Given the description of an element on the screen output the (x, y) to click on. 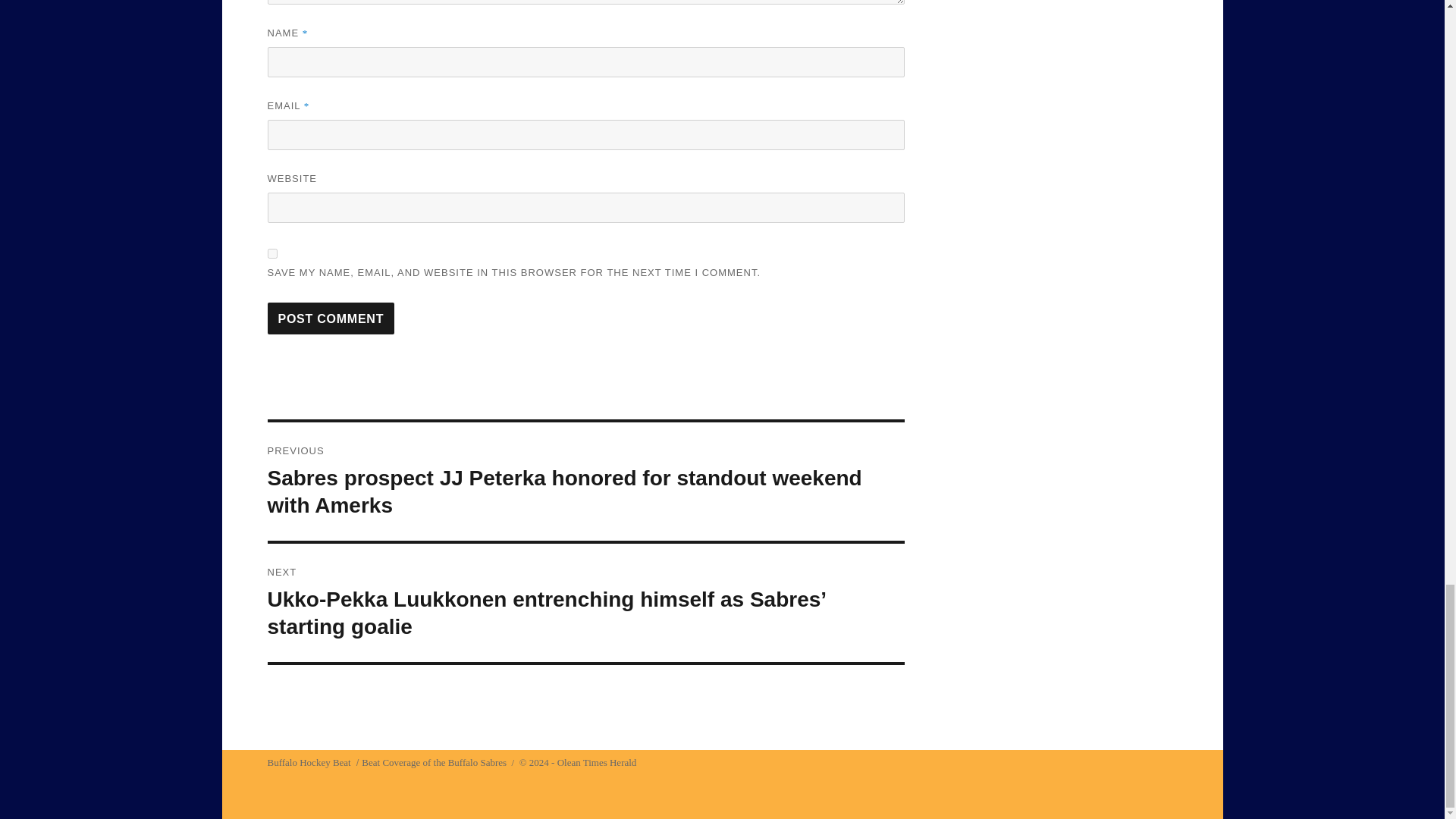
Olean Times Herald (597, 762)
Post Comment (330, 318)
yes (271, 253)
Buffalo Hockey Beat (308, 762)
Post Comment (330, 318)
